Given the description of an element on the screen output the (x, y) to click on. 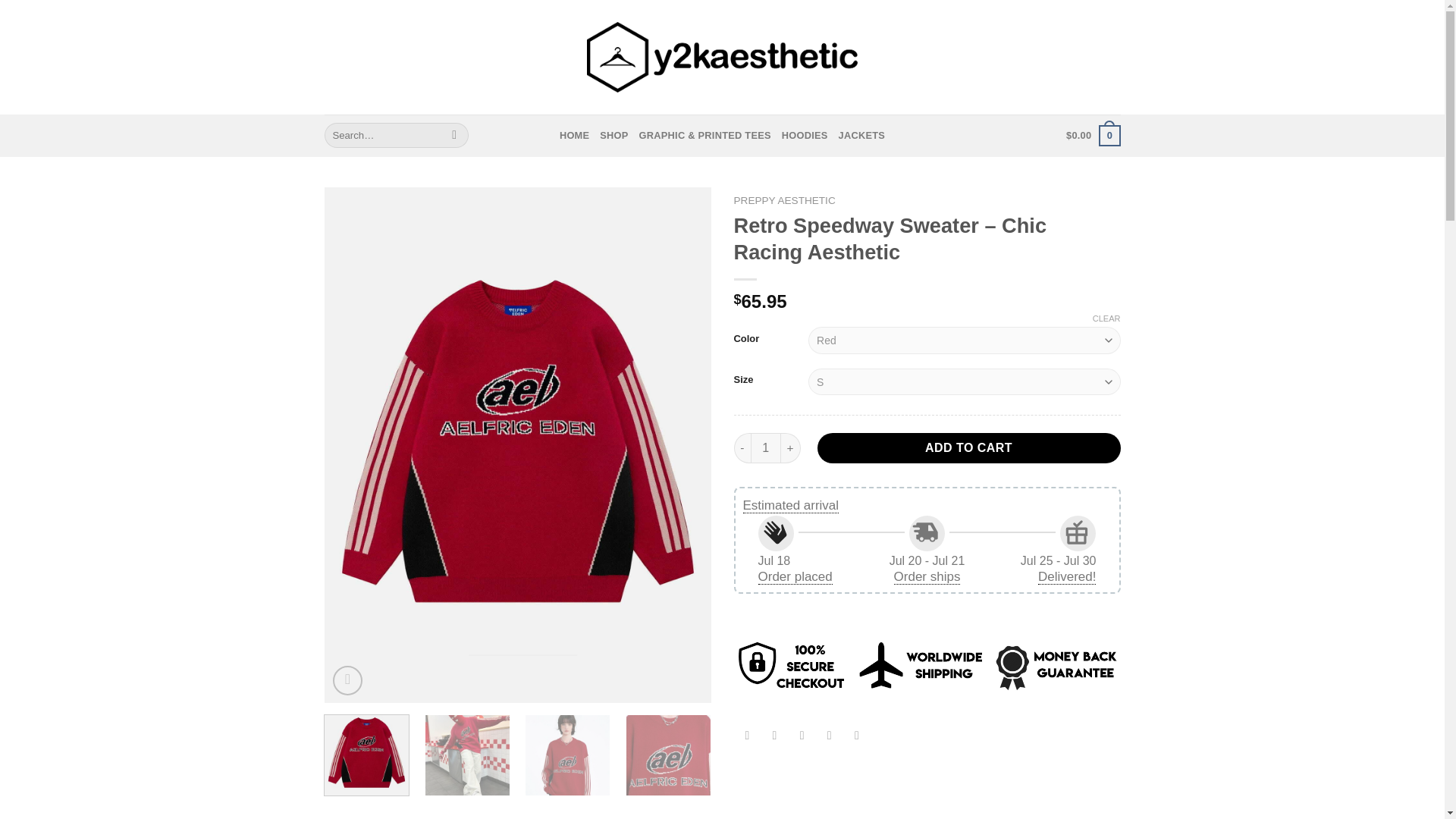
HOME (574, 135)
ADD TO CART (968, 448)
PREPPY AESTHETIC (784, 200)
HOODIES (804, 135)
- (742, 448)
1 (765, 448)
SHOP (613, 135)
JACKETS (861, 135)
Search (454, 135)
Zoom (347, 680)
y2kaesthetic.com (721, 57)
CLEAR (1107, 317)
Cart (1092, 135)
